Given the description of an element on the screen output the (x, y) to click on. 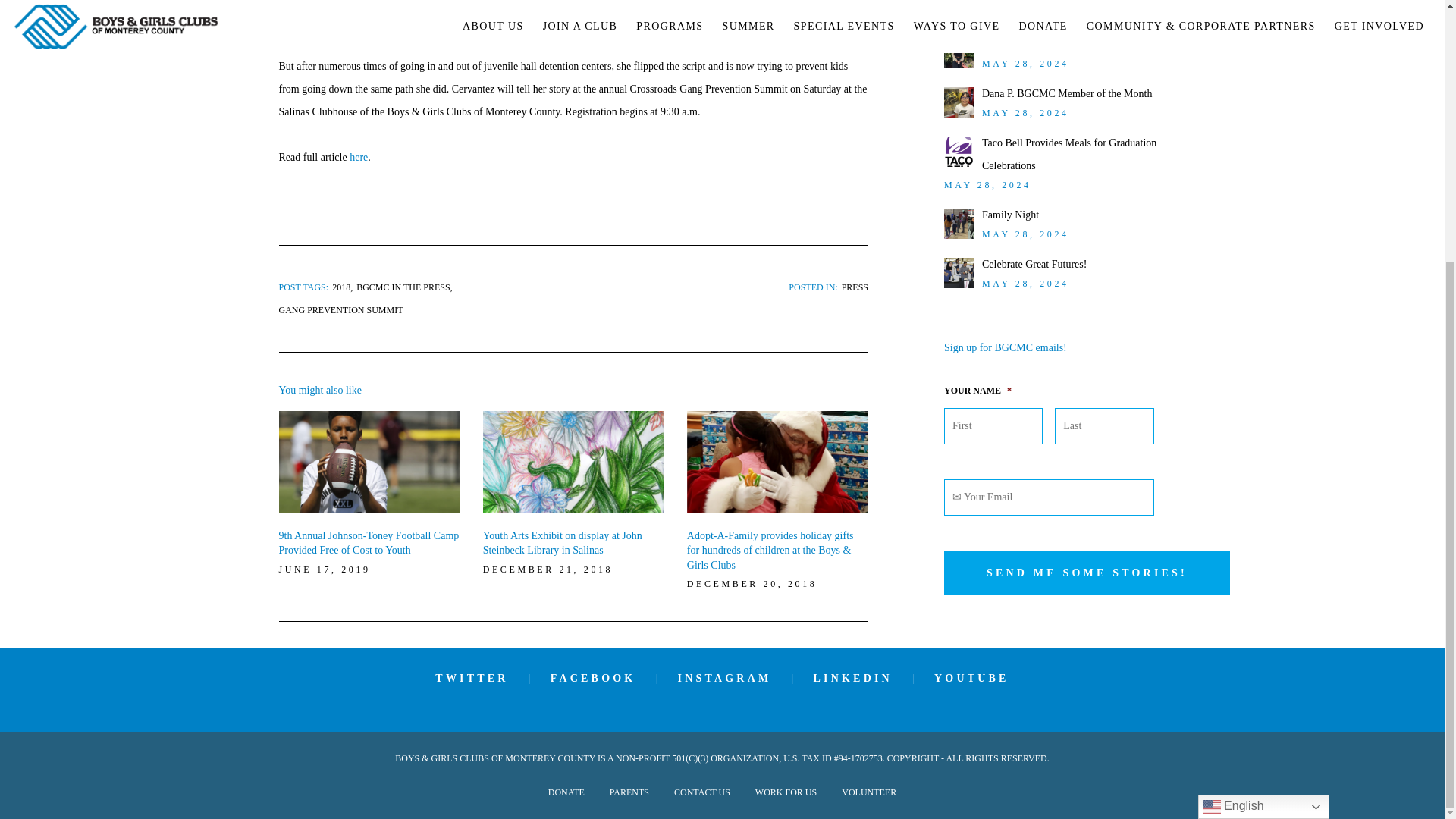
Dana P. BGCMC Member of the Month (1066, 93)
Send me some stories! (1086, 572)
Staff of the Month- Anyssa (1039, 43)
